Given the description of an element on the screen output the (x, y) to click on. 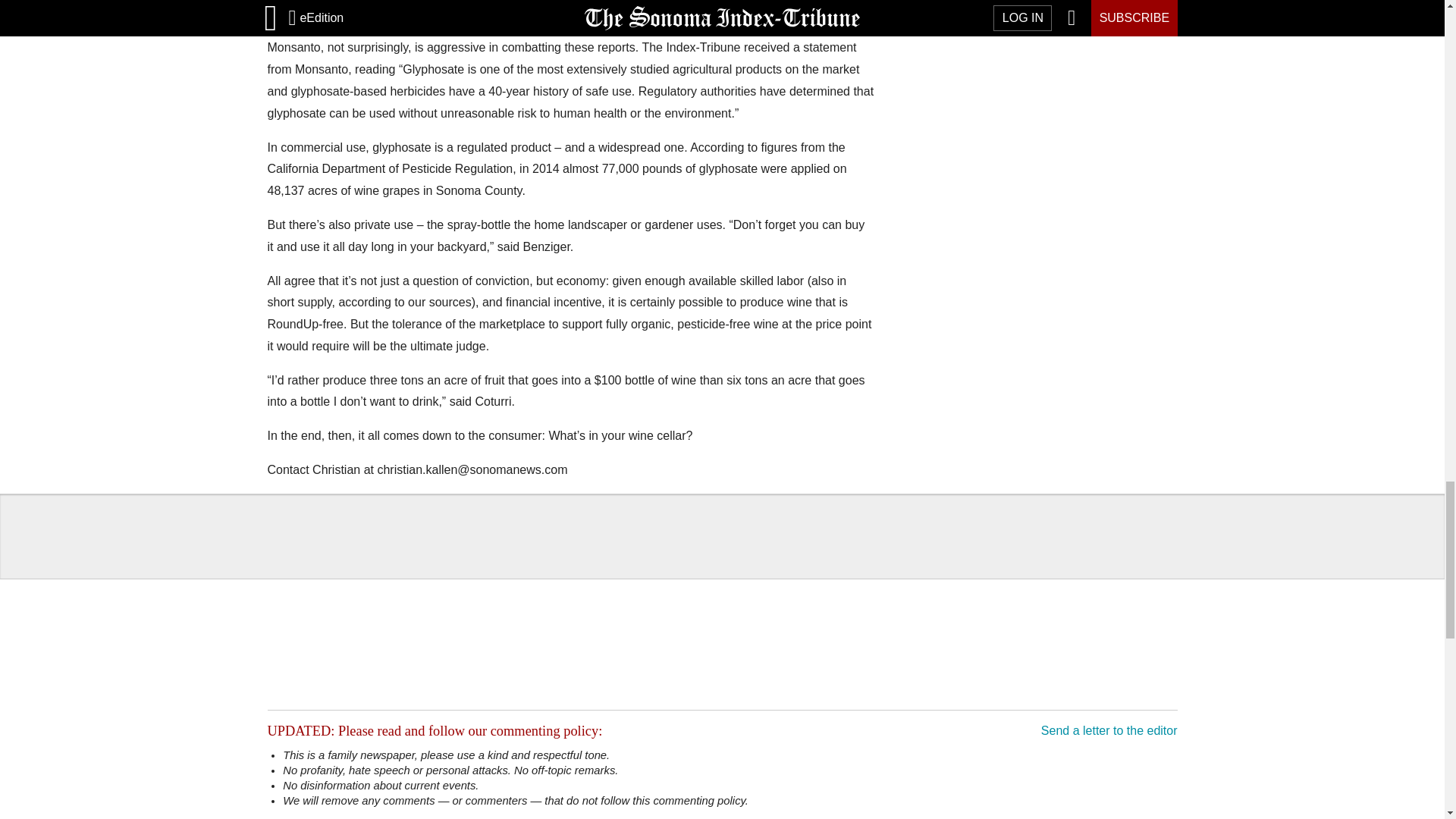
Send a letter to the editor (1109, 730)
UPDATED: Please read and follow our commenting policy: (434, 730)
